Given the description of an element on the screen output the (x, y) to click on. 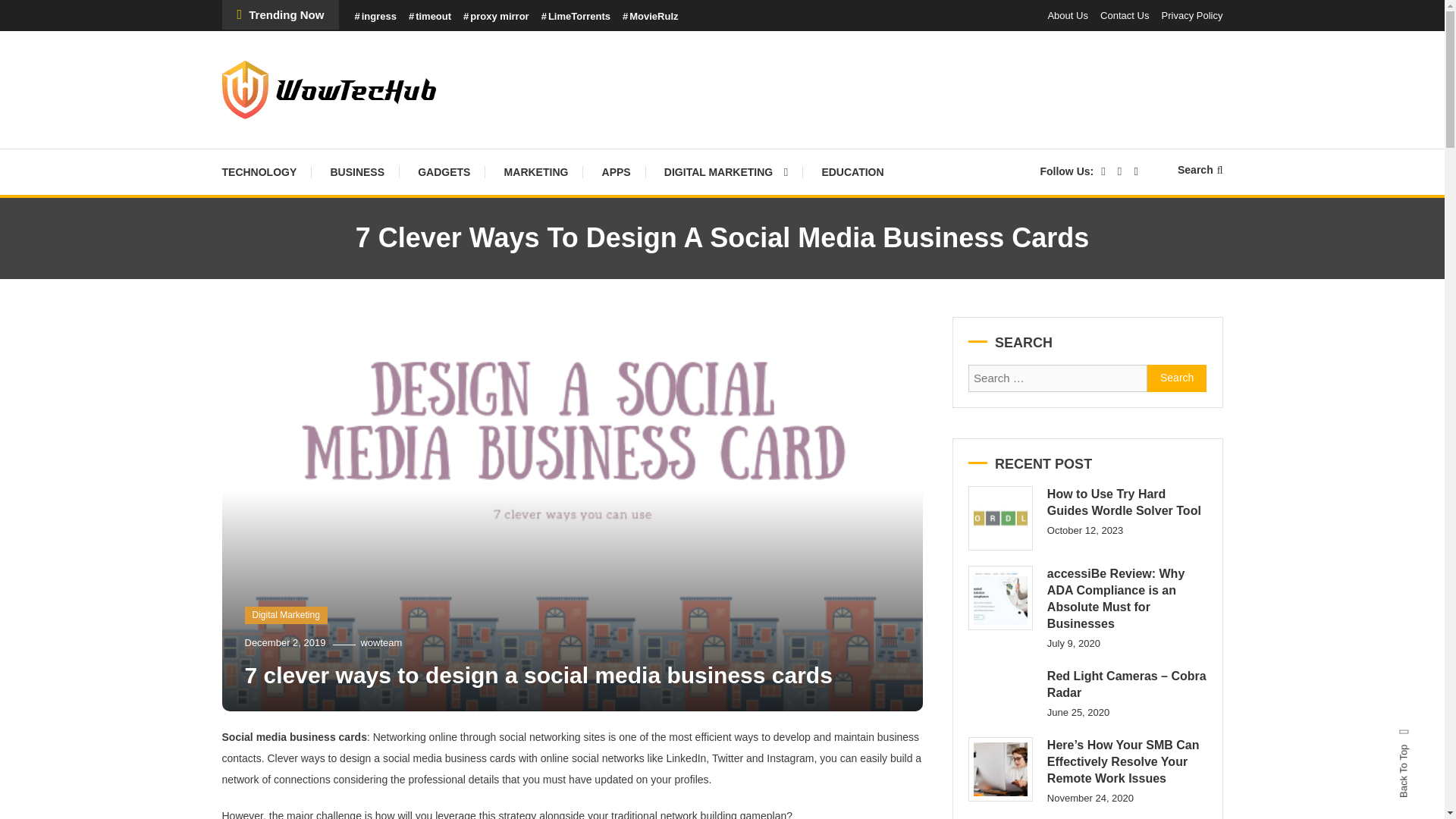
ingress (374, 16)
Search (1177, 378)
wowteam (380, 642)
Search (1177, 378)
timeout (430, 16)
Search (768, 432)
BUSINESS (356, 171)
GADGETS (443, 171)
December 2, 2019 (284, 642)
EDUCATION (852, 171)
